Given the description of an element on the screen output the (x, y) to click on. 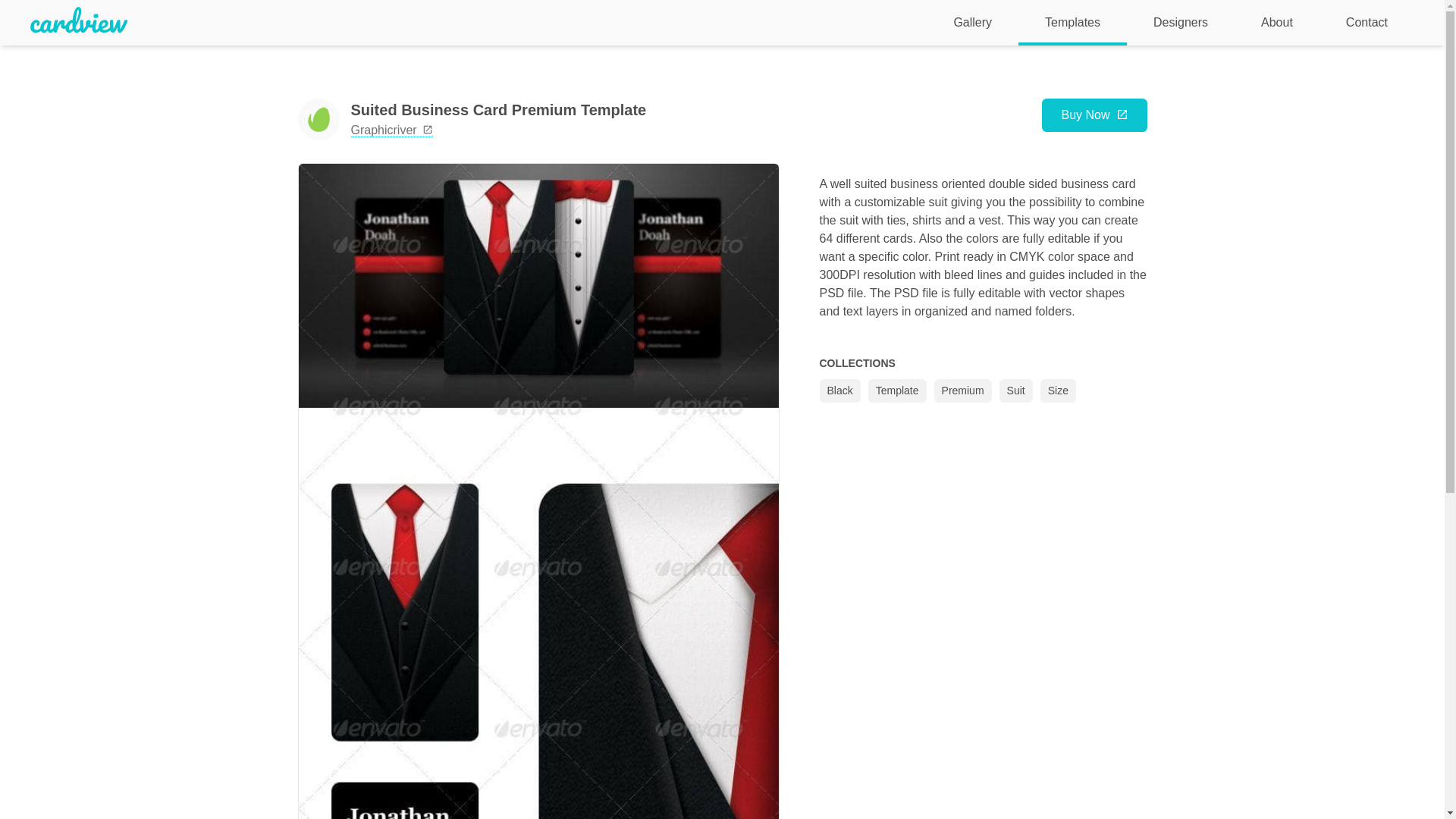
Designers (1180, 23)
Size (1058, 390)
Buy Now (1094, 114)
Graphicriver (391, 130)
Black (839, 390)
Premium (962, 390)
About (1276, 23)
Suit (1015, 390)
Template (896, 390)
Gallery (971, 23)
